Given the description of an element on the screen output the (x, y) to click on. 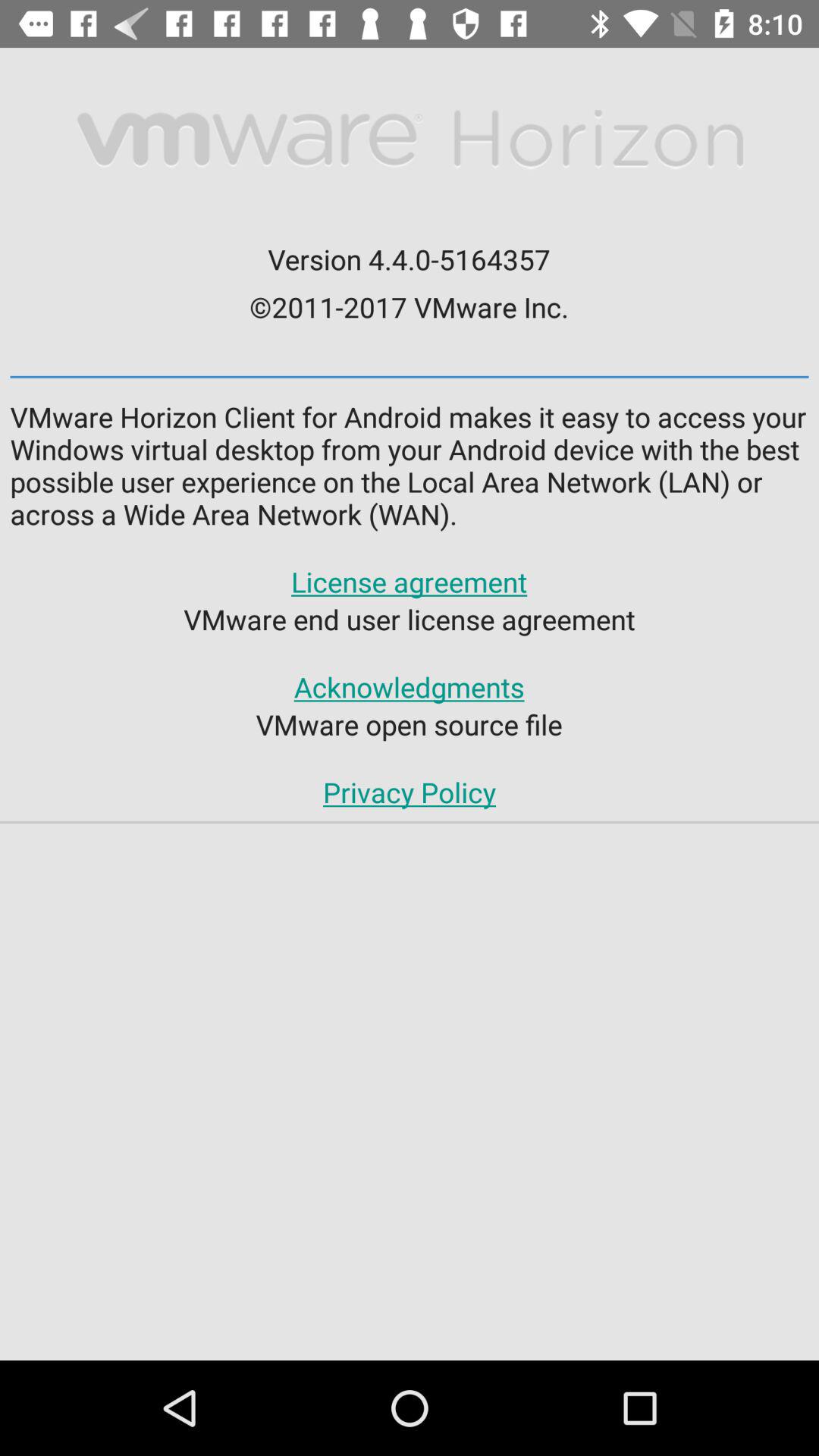
open the icon above vmware horizon client (409, 376)
